Given the description of an element on the screen output the (x, y) to click on. 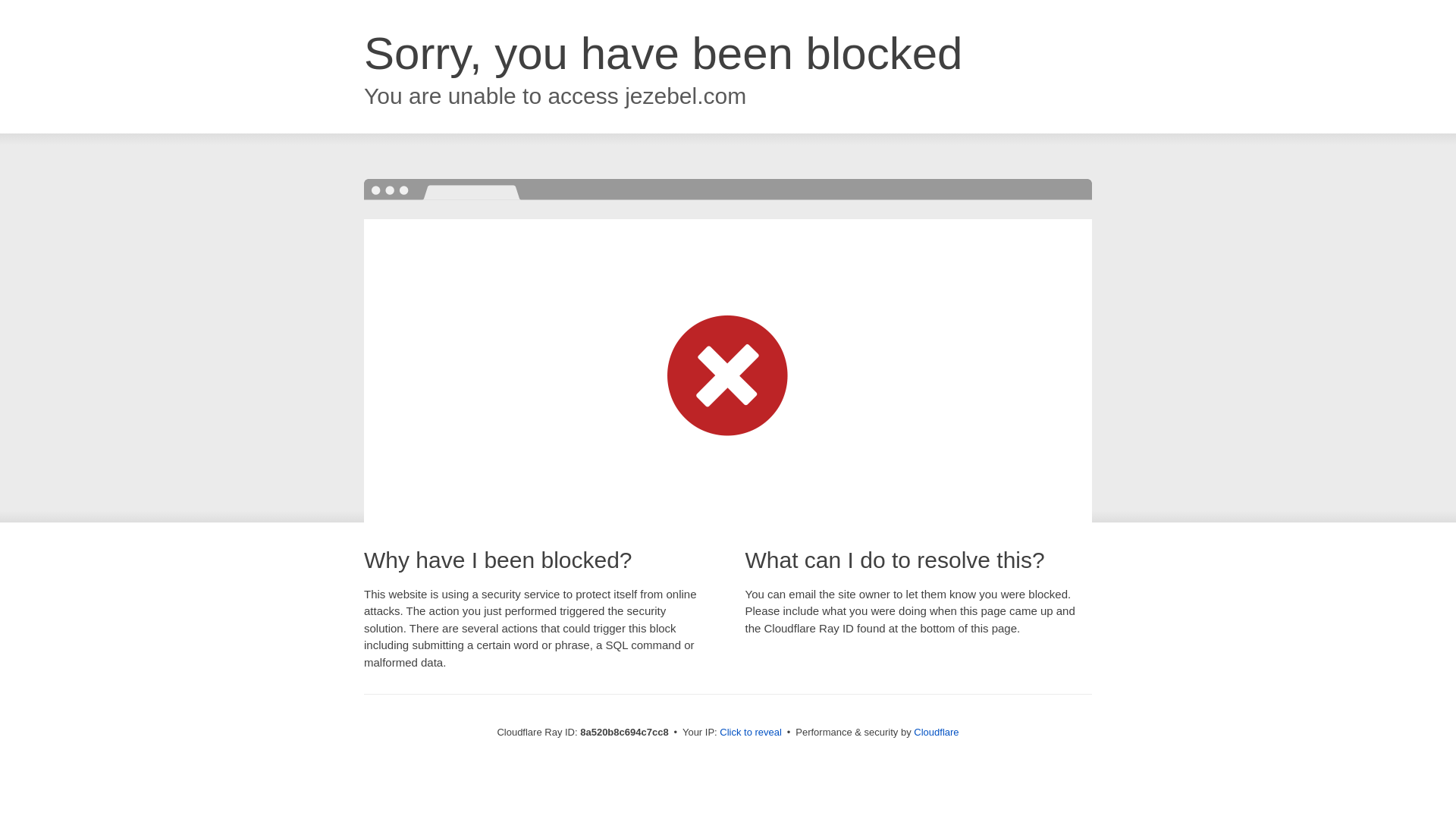
Cloudflare (936, 731)
Click to reveal (750, 732)
